Given the description of an element on the screen output the (x, y) to click on. 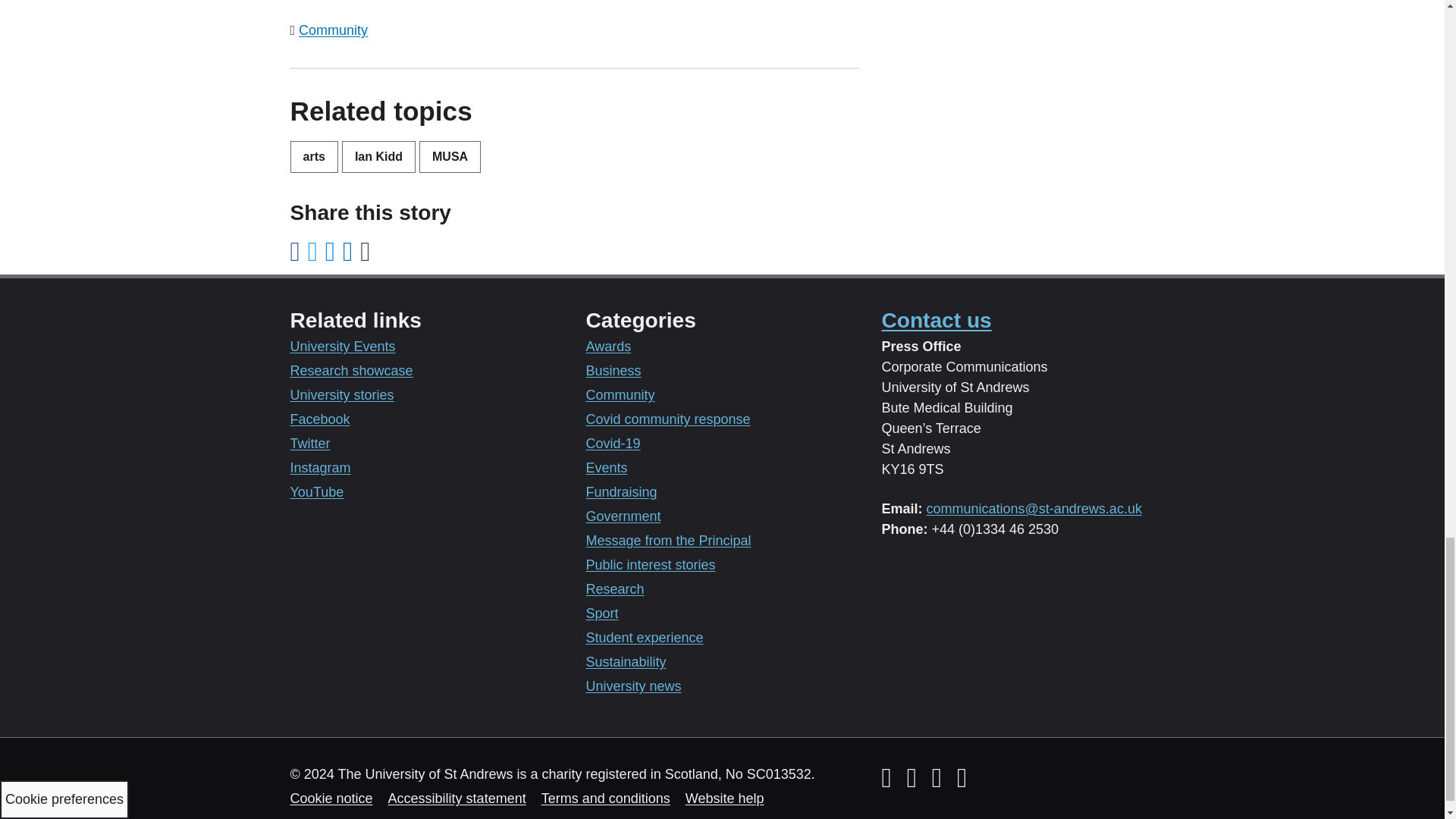
MUSA (449, 156)
Community (333, 29)
Ian Kidd (378, 156)
arts (313, 156)
